Given the description of an element on the screen output the (x, y) to click on. 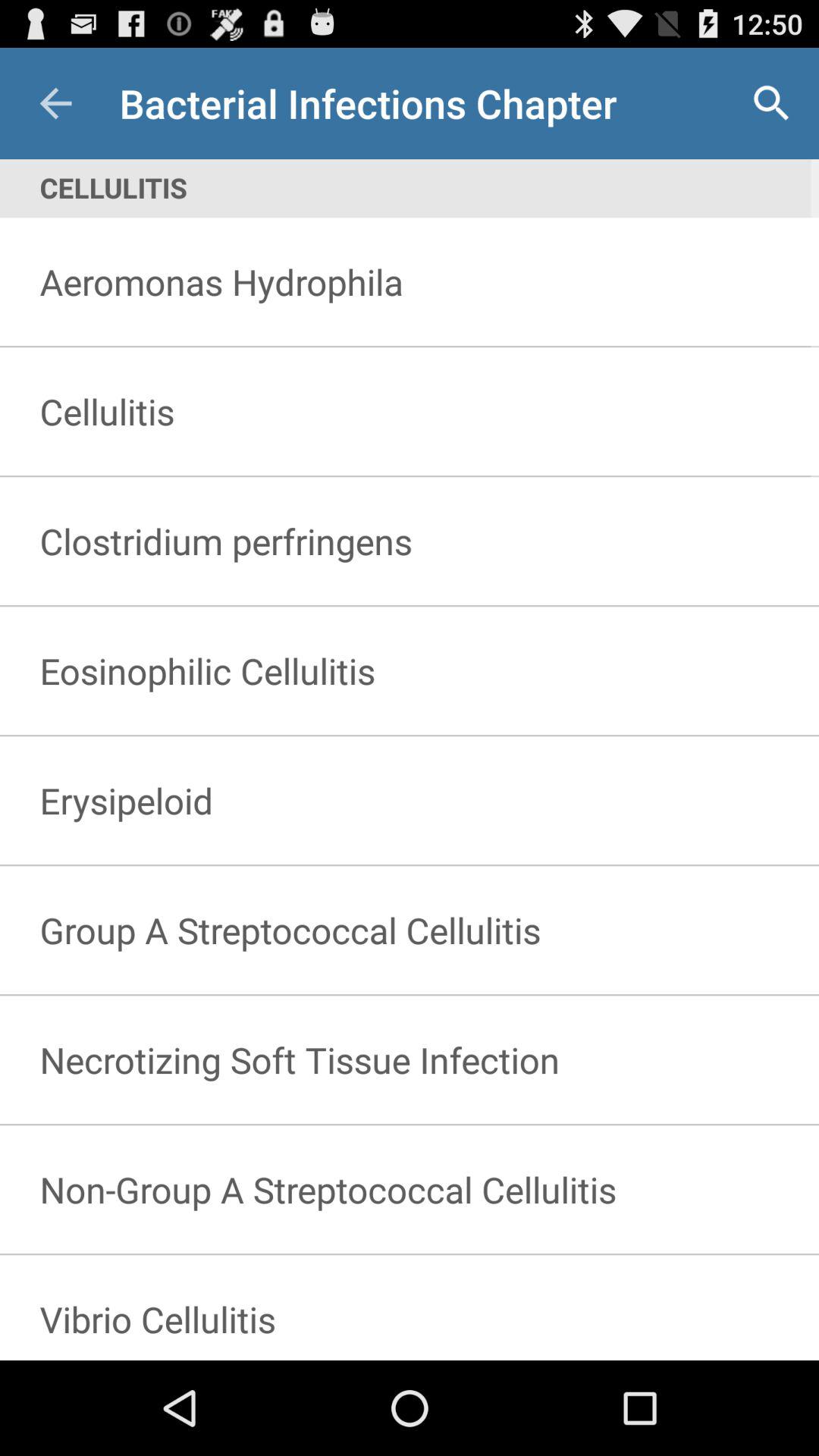
turn off the item at the top right corner (771, 103)
